Given the description of an element on the screen output the (x, y) to click on. 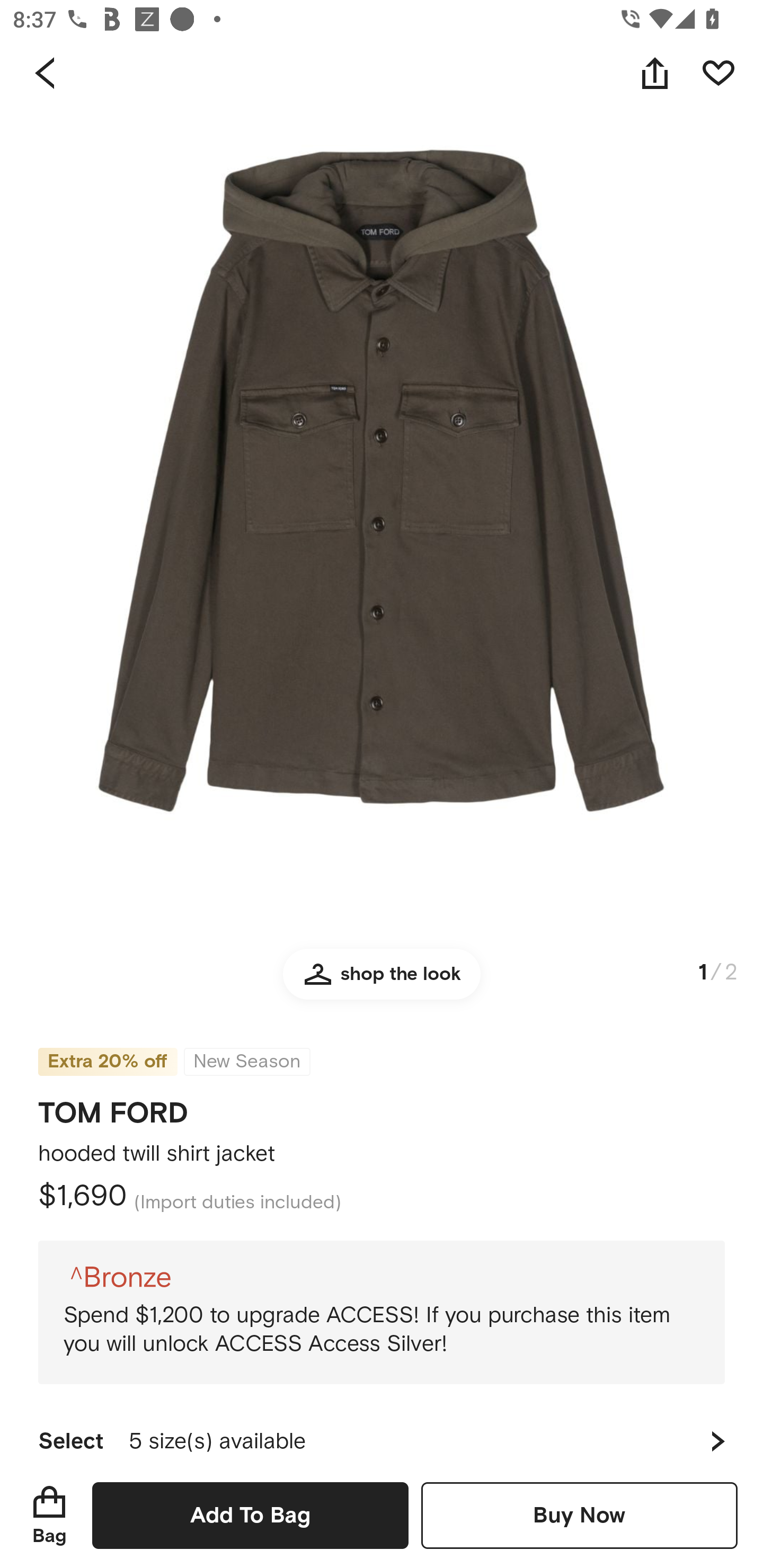
shop the look (381, 982)
Extra 20% off (107, 1049)
TOM FORD (113, 1107)
Select 5 size(s) available (381, 1432)
Bag (49, 1515)
Add To Bag (250, 1515)
Buy Now (579, 1515)
